Given the description of an element on the screen output the (x, y) to click on. 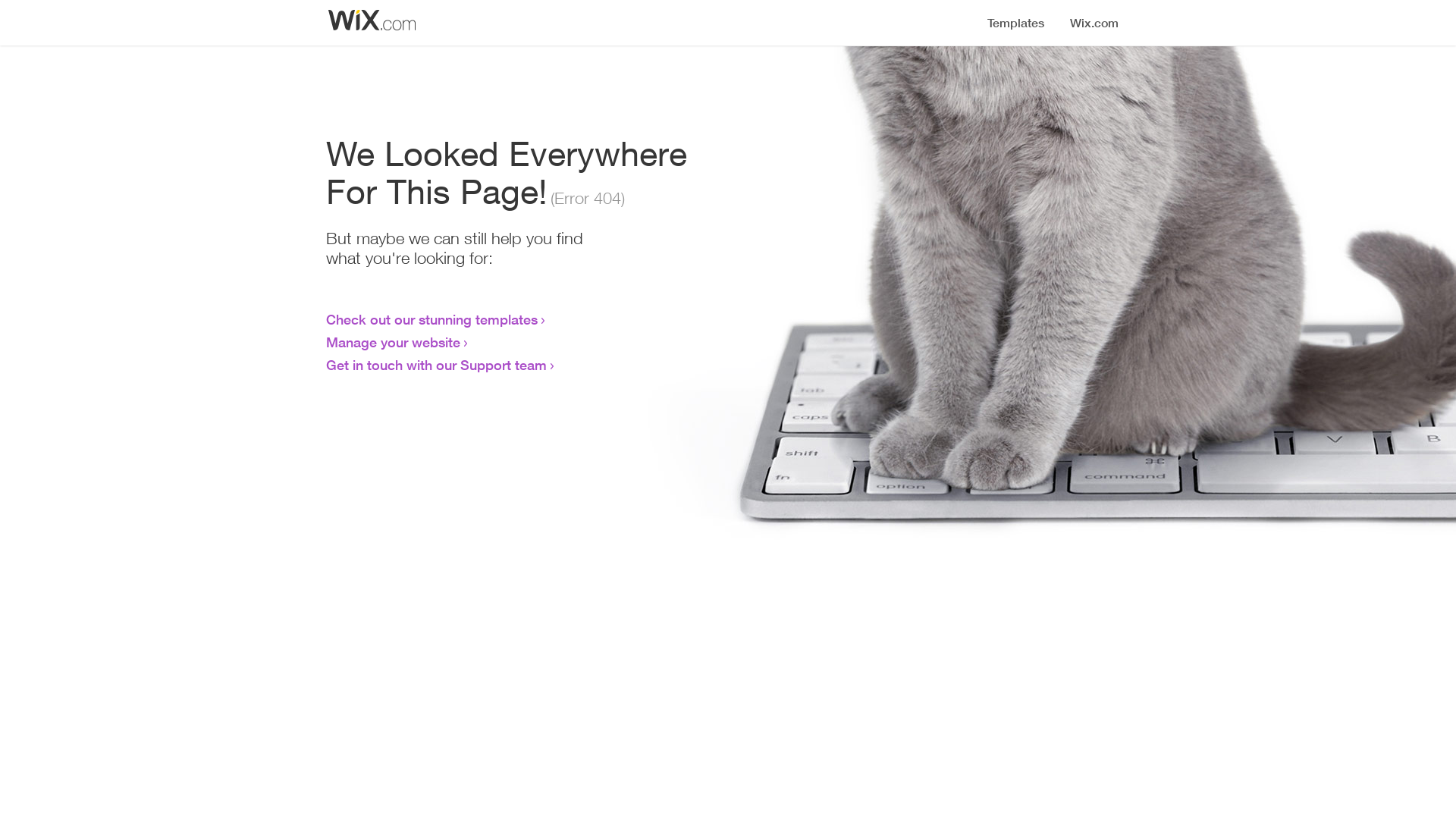
Get in touch with our Support team Element type: text (436, 364)
Check out our stunning templates Element type: text (431, 318)
Manage your website Element type: text (393, 341)
